Given the description of an element on the screen output the (x, y) to click on. 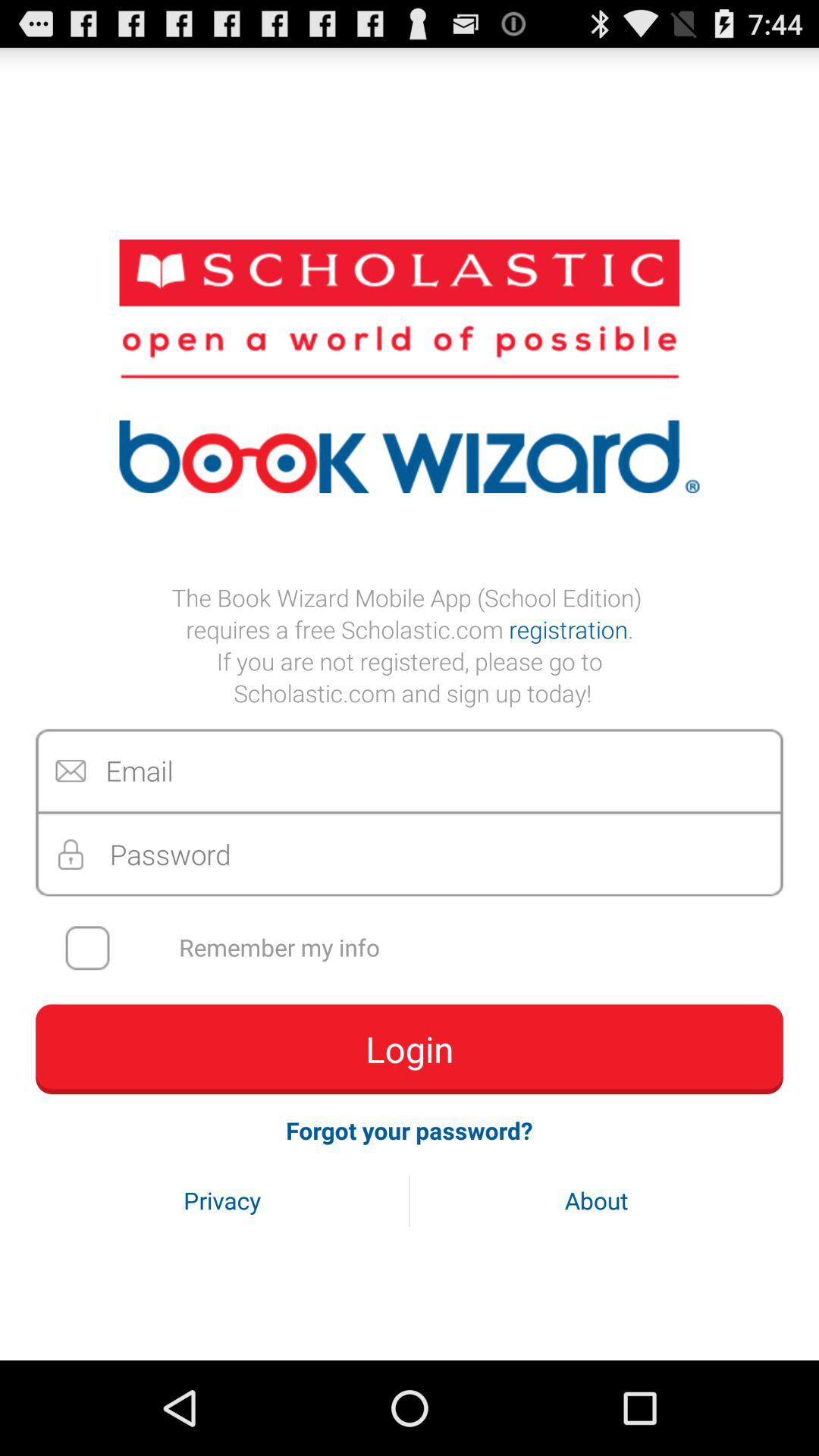
press login (409, 1049)
